Given the description of an element on the screen output the (x, y) to click on. 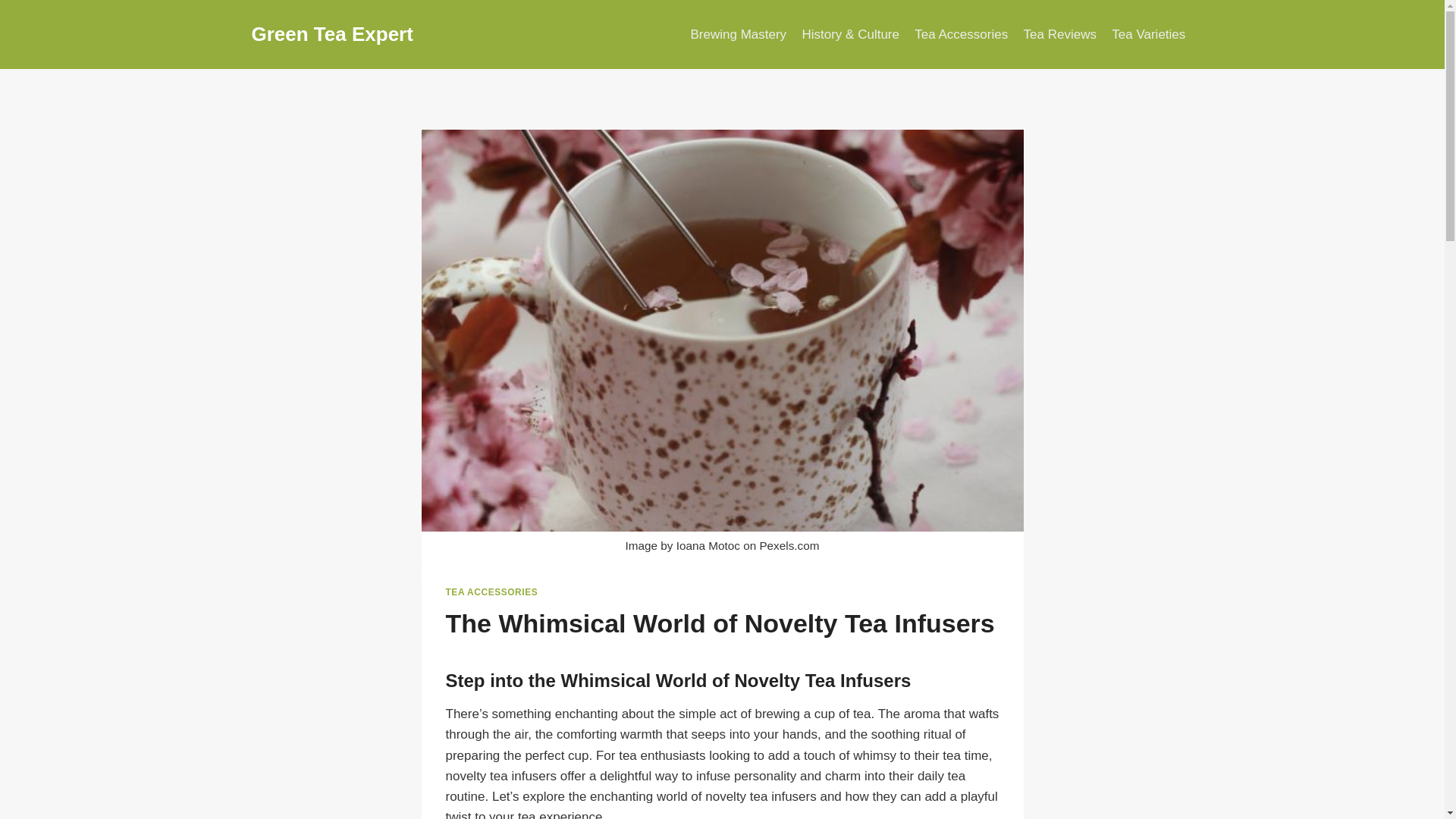
Tea Accessories (960, 34)
Green Tea Expert (332, 33)
TEA ACCESSORIES (491, 592)
Tea Reviews (1058, 34)
Brewing Mastery (737, 34)
Tea Varieties (1147, 34)
